Given the description of an element on the screen output the (x, y) to click on. 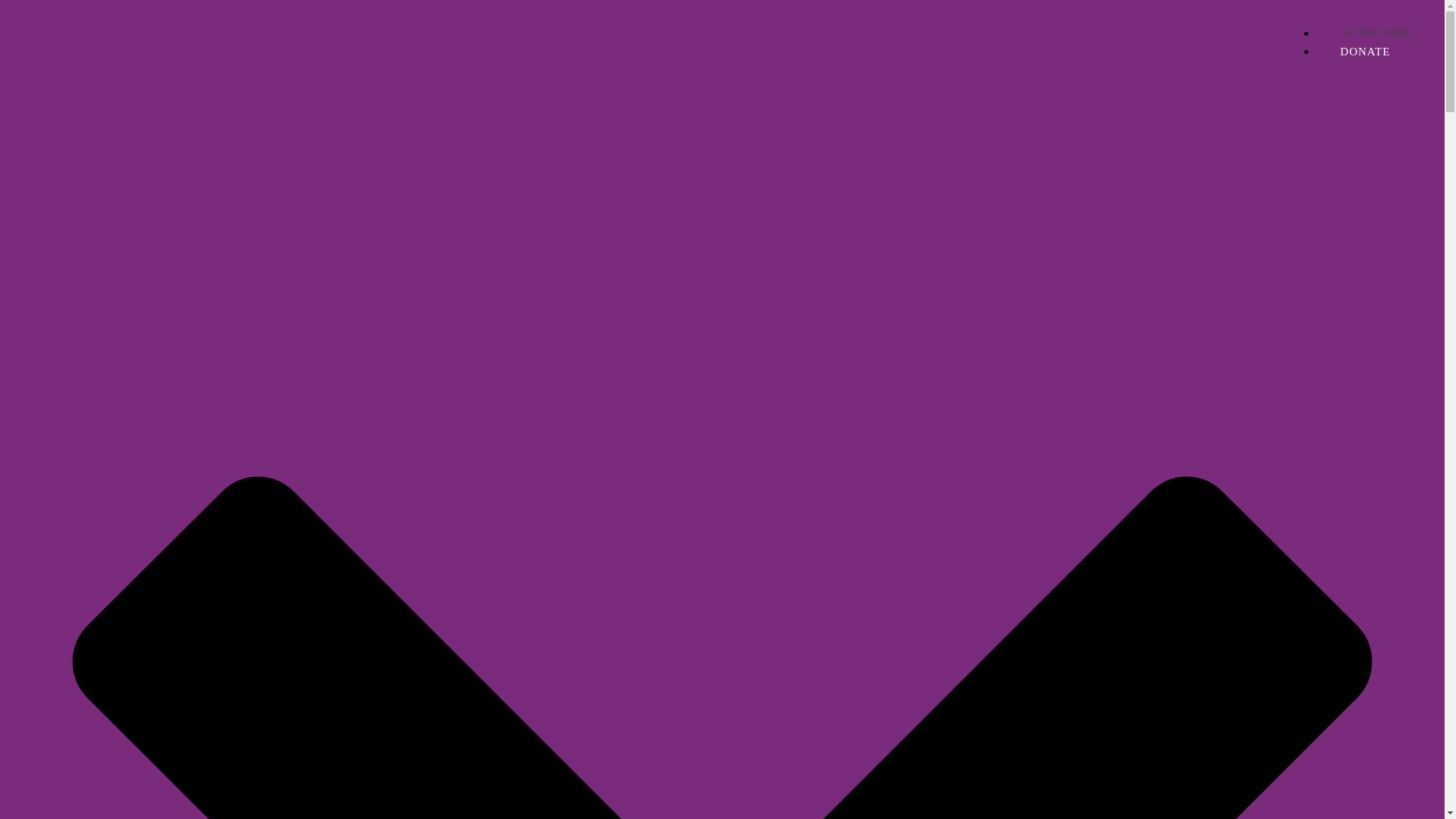
DONATE Element type: text (1364, 51)
SUBSCRIBE Element type: text (1377, 33)
